Given the description of an element on the screen output the (x, y) to click on. 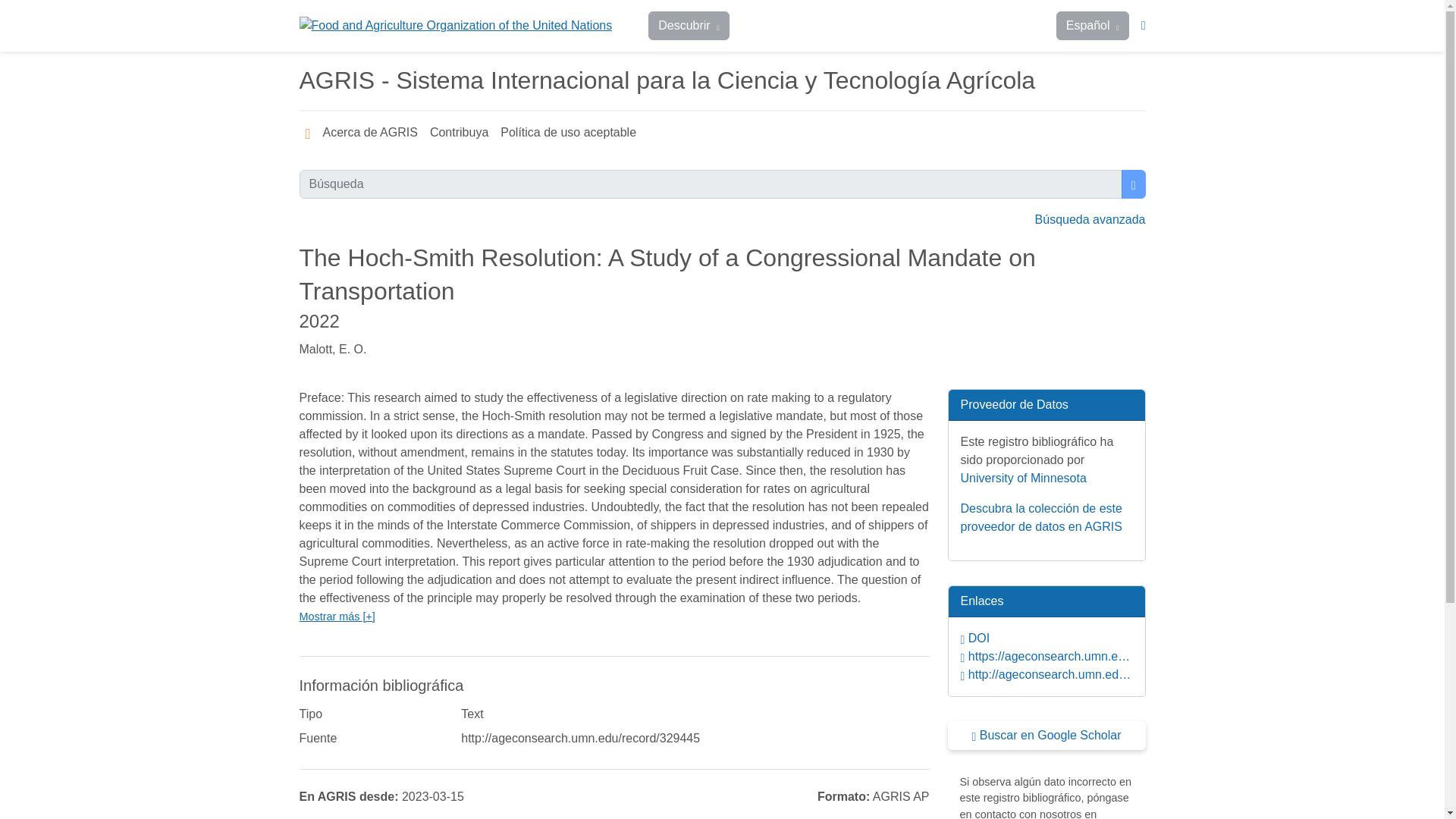
Food and Agriculture Organization of the United Nations (454, 25)
Contribuya (459, 132)
DOI (1045, 638)
Buscar en Google Scholar (1046, 735)
Acerca de AGRIS (370, 132)
Descubrir (688, 25)
University of Minnesota (1022, 477)
